Given the description of an element on the screen output the (x, y) to click on. 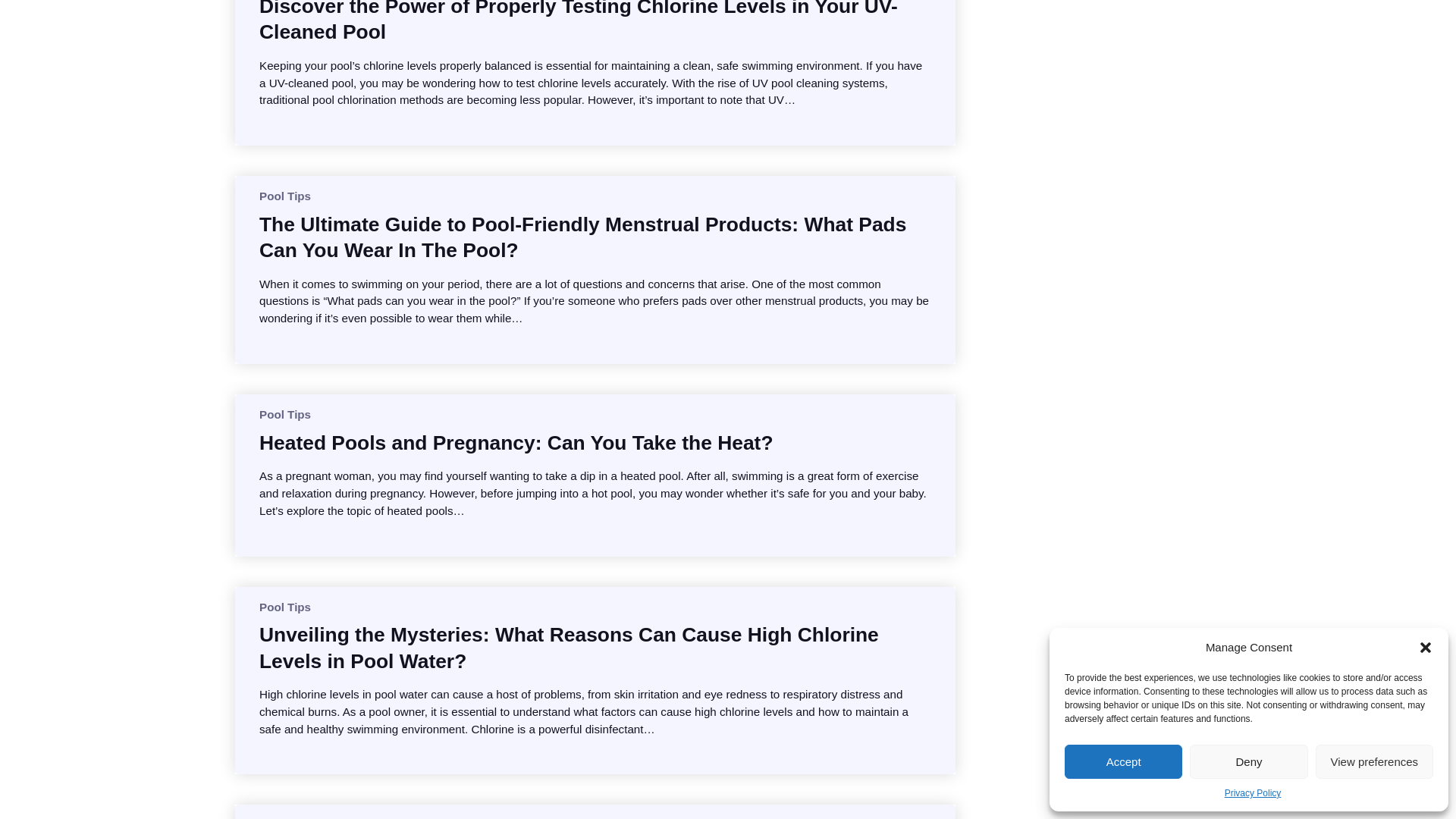
Pool Tips (285, 195)
Pool Tips (285, 413)
Pool Tips (285, 606)
Pool Tips (285, 818)
Heated Pools and Pregnancy: Can You Take the Heat? (516, 442)
